Given the description of an element on the screen output the (x, y) to click on. 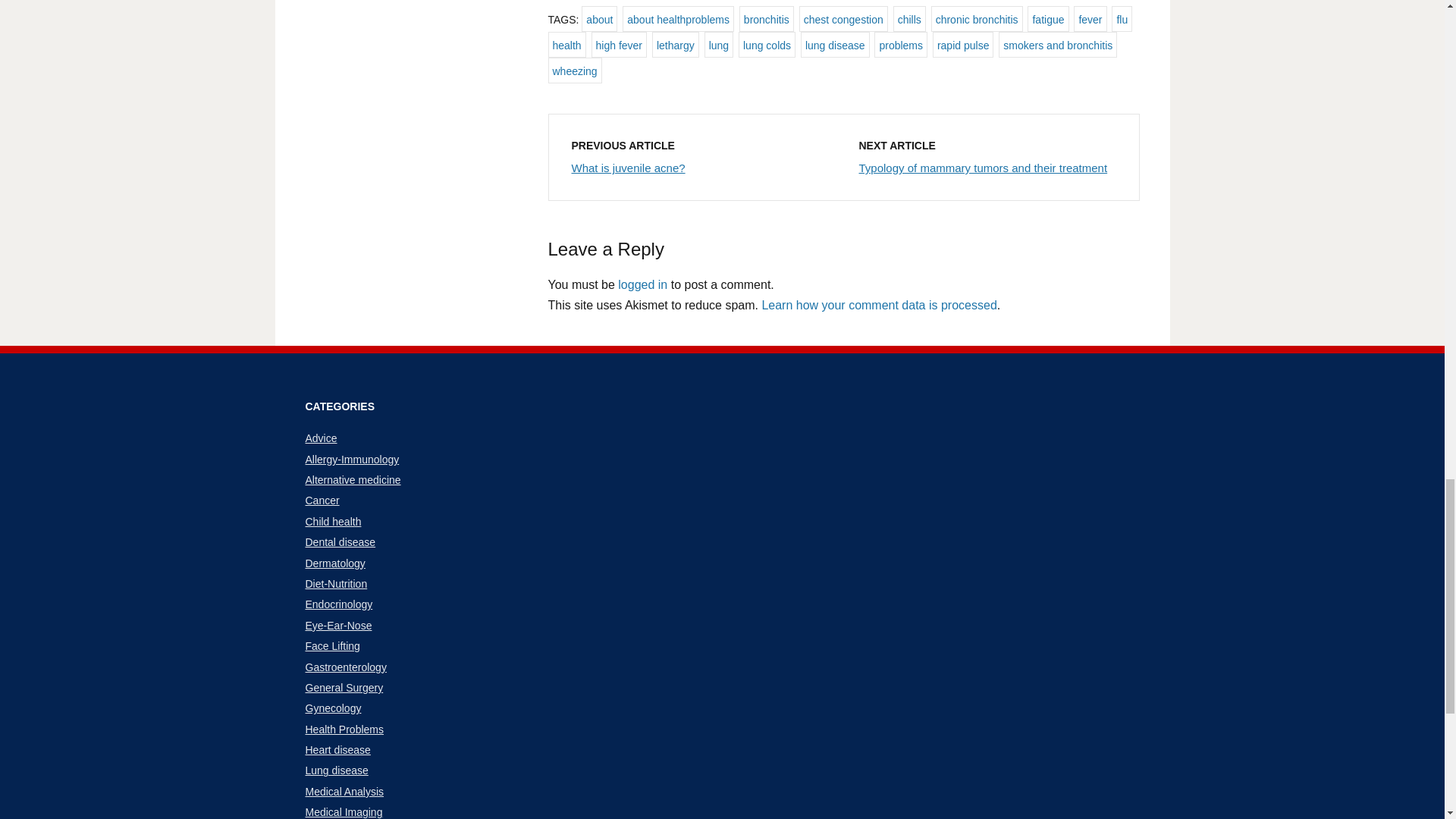
problems (901, 44)
flu (1122, 18)
chronic bronchitis (977, 18)
smokers and bronchitis (1057, 44)
rapid pulse (963, 44)
high fever (618, 44)
chest congestion (843, 18)
lung colds (766, 44)
health (566, 44)
lethargy (675, 44)
logged in (641, 284)
wheezing (574, 70)
Typology of mammary tumors and their treatment (982, 167)
fatigue (1047, 18)
about healthproblems (678, 18)
